Given the description of an element on the screen output the (x, y) to click on. 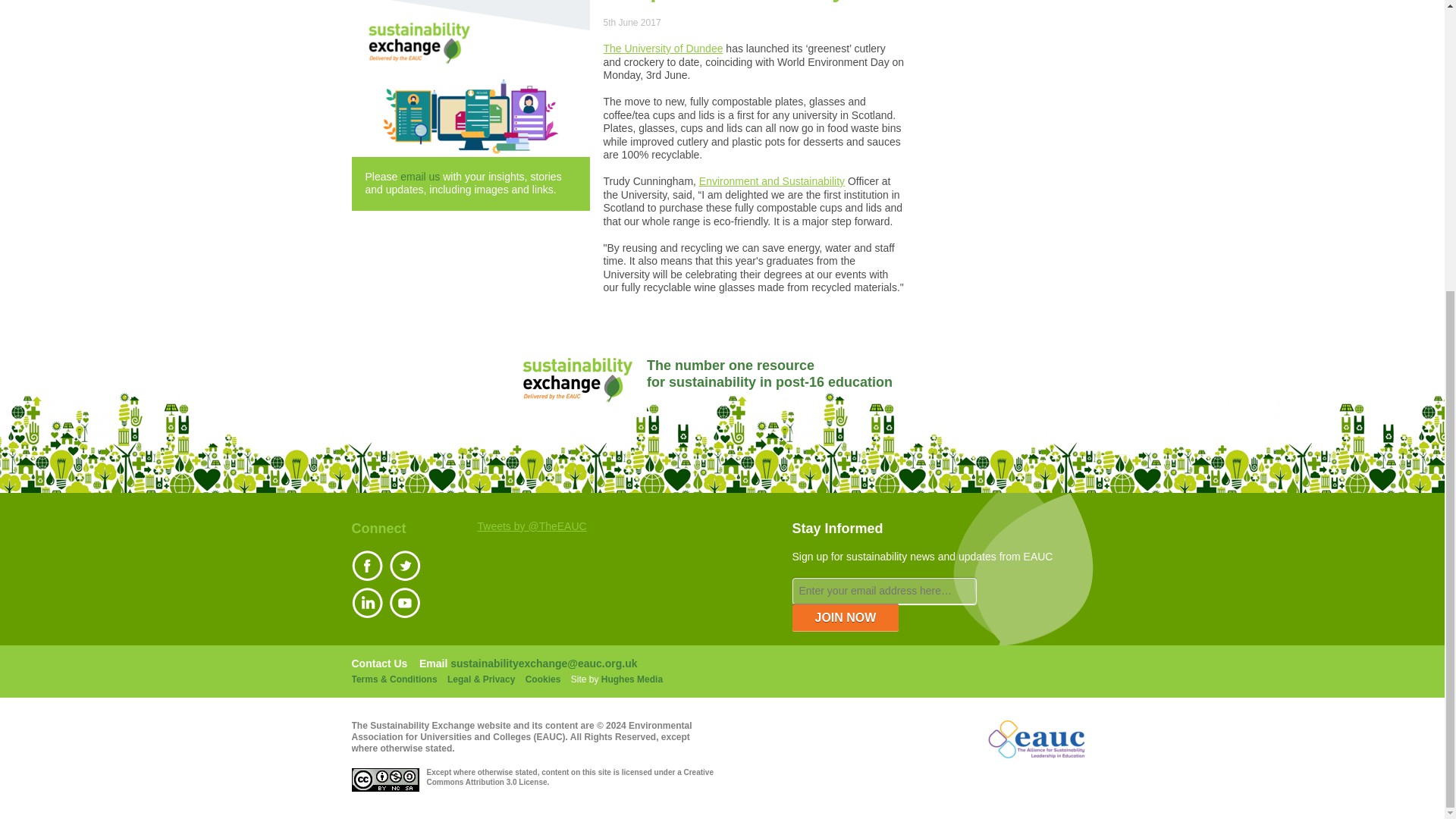
Join now (845, 617)
